Given the description of an element on the screen output the (x, y) to click on. 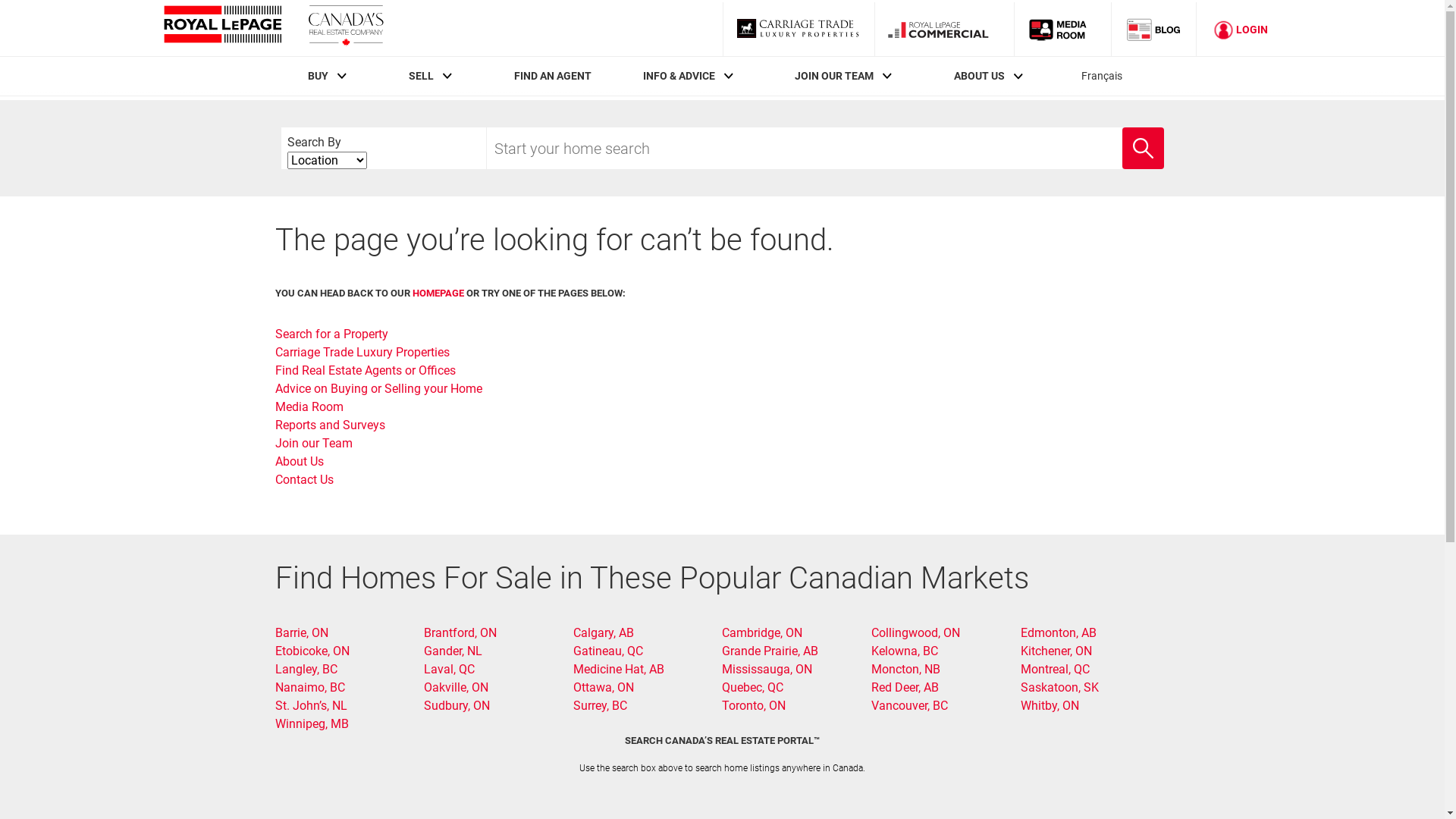
Mississauga, ON Element type: text (766, 668)
Vancouver, BC Element type: text (909, 704)
BUY Element type: text (317, 75)
Oakville, ON Element type: text (455, 686)
Calgary, AB Element type: text (603, 631)
Gatineau, QC Element type: text (608, 650)
ABOUT US Element type: text (978, 75)
Edmonton, AB Element type: text (1058, 631)
Saskatoon, SK Element type: text (1059, 686)
Sudbury, ON Element type: text (456, 704)
About Us Element type: text (298, 460)
SELL Element type: text (420, 75)
Cambridge, ON Element type: text (761, 631)
Nanaimo, BC Element type: text (309, 686)
Medicine Hat, AB Element type: text (618, 668)
Contact Us Element type: text (303, 478)
Gander, NL Element type: text (452, 650)
Commercial Element type: text (943, 28)
Ottawa, ON Element type: text (603, 686)
Join our Team Element type: text (312, 442)
Etobicoke, ON Element type: text (311, 650)
Grande Prairie, AB Element type: text (769, 650)
JOIN OUR TEAM Element type: text (833, 75)
Blog Element type: text (1153, 28)
Search for a Property Element type: text (330, 333)
Whitby, ON Element type: text (1049, 704)
Luxury Properties Element type: text (798, 28)
Advice on Buying or Selling your Home Element type: text (377, 387)
Find Real Estate Agents or Offices Element type: text (364, 369)
Media Room Element type: text (1061, 28)
Toronto, ON Element type: text (753, 704)
Brantford, ON Element type: text (459, 631)
Kitchener, ON Element type: text (1056, 650)
Surrey, BC Element type: text (600, 704)
FIND AN AGENT Element type: text (552, 75)
Moncton, NB Element type: text (905, 668)
Winnipeg, MB Element type: text (311, 722)
Kelowna, BC Element type: text (904, 650)
Langley, BC Element type: text (305, 668)
INFO & ADVICE Element type: text (679, 75)
Collingwood, ON Element type: text (915, 631)
Media Room Element type: text (308, 405)
Red Deer, AB Element type: text (904, 686)
Montreal, QC Element type: text (1054, 668)
Laval, QC Element type: text (448, 668)
Quebec, QC Element type: text (752, 686)
Barrie, ON Element type: text (300, 631)
Reports and Surveys Element type: text (329, 424)
HOMEPAGE Element type: text (438, 292)
Carriage Trade Luxury Properties Element type: text (361, 351)
Submit Element type: text (1121, 127)
